Given the description of an element on the screen output the (x, y) to click on. 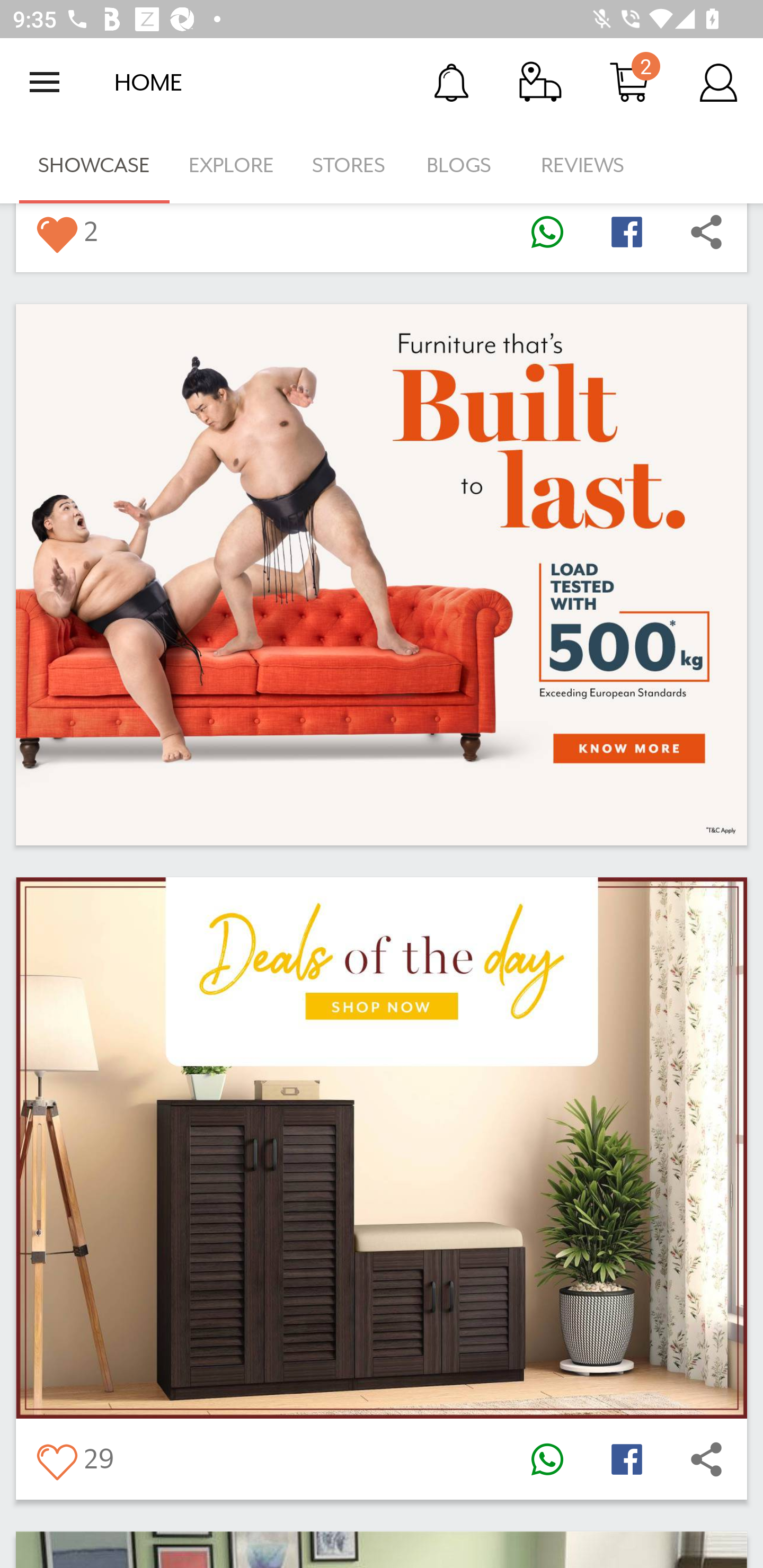
Open navigation drawer (44, 82)
Notification (450, 81)
Track Order (540, 81)
Cart (629, 81)
Account Details (718, 81)
SHOWCASE (94, 165)
EXPLORE (230, 165)
STORES (349, 165)
BLOGS (464, 165)
REVIEWS (582, 165)
 (55, 231)
 (547, 231)
 (626, 231)
 (706, 231)
 (55, 1458)
 (547, 1458)
 (626, 1458)
 (706, 1458)
